Given the description of an element on the screen output the (x, y) to click on. 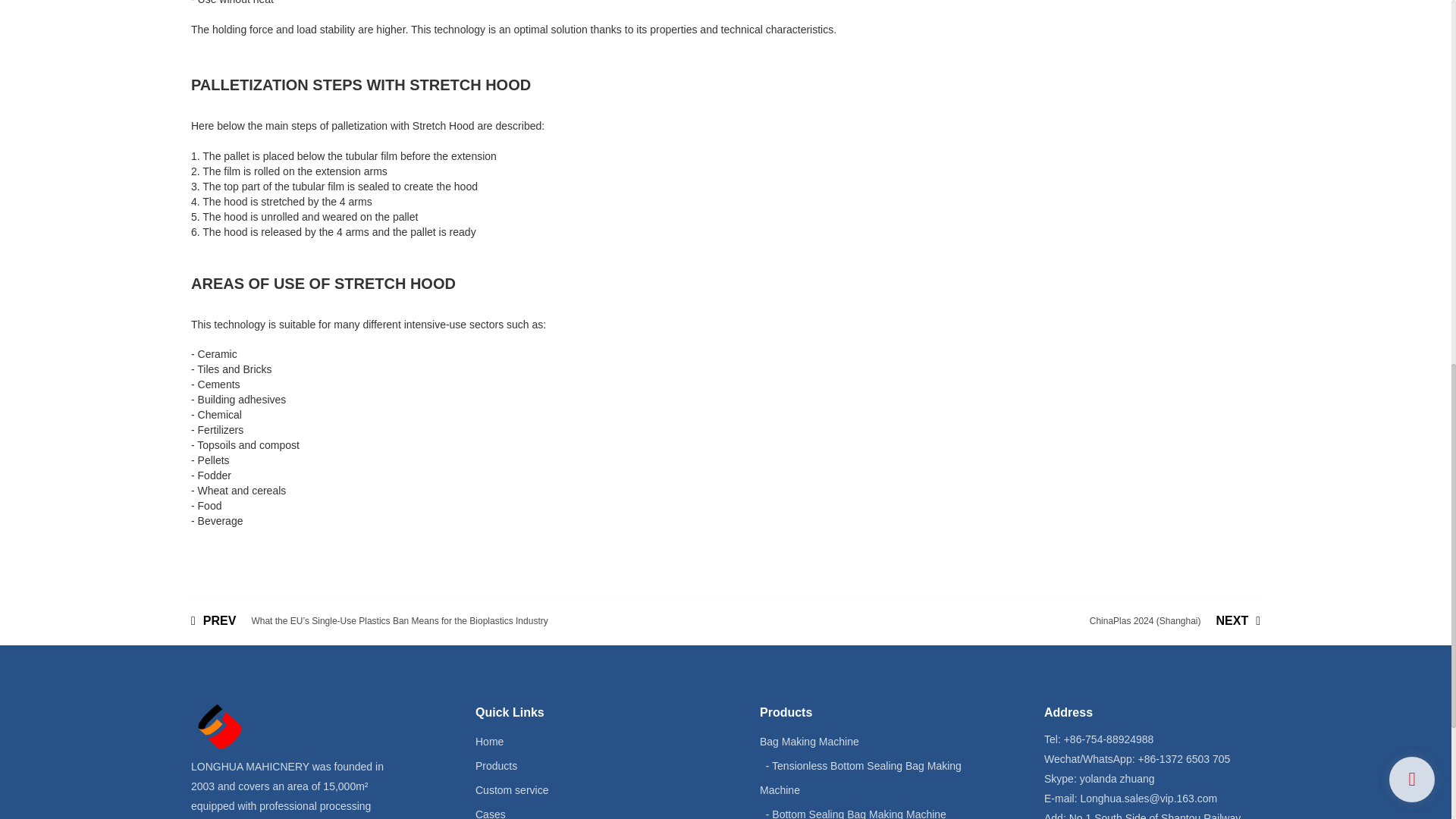
Bag Making Machine (809, 741)
Custom service (512, 789)
- Tensionless Bottom Sealing Bag Making Machine (860, 778)
Products (496, 766)
Home (489, 741)
- Bottom Sealing Bag Making Machine (855, 813)
Cases (490, 813)
